Given the description of an element on the screen output the (x, y) to click on. 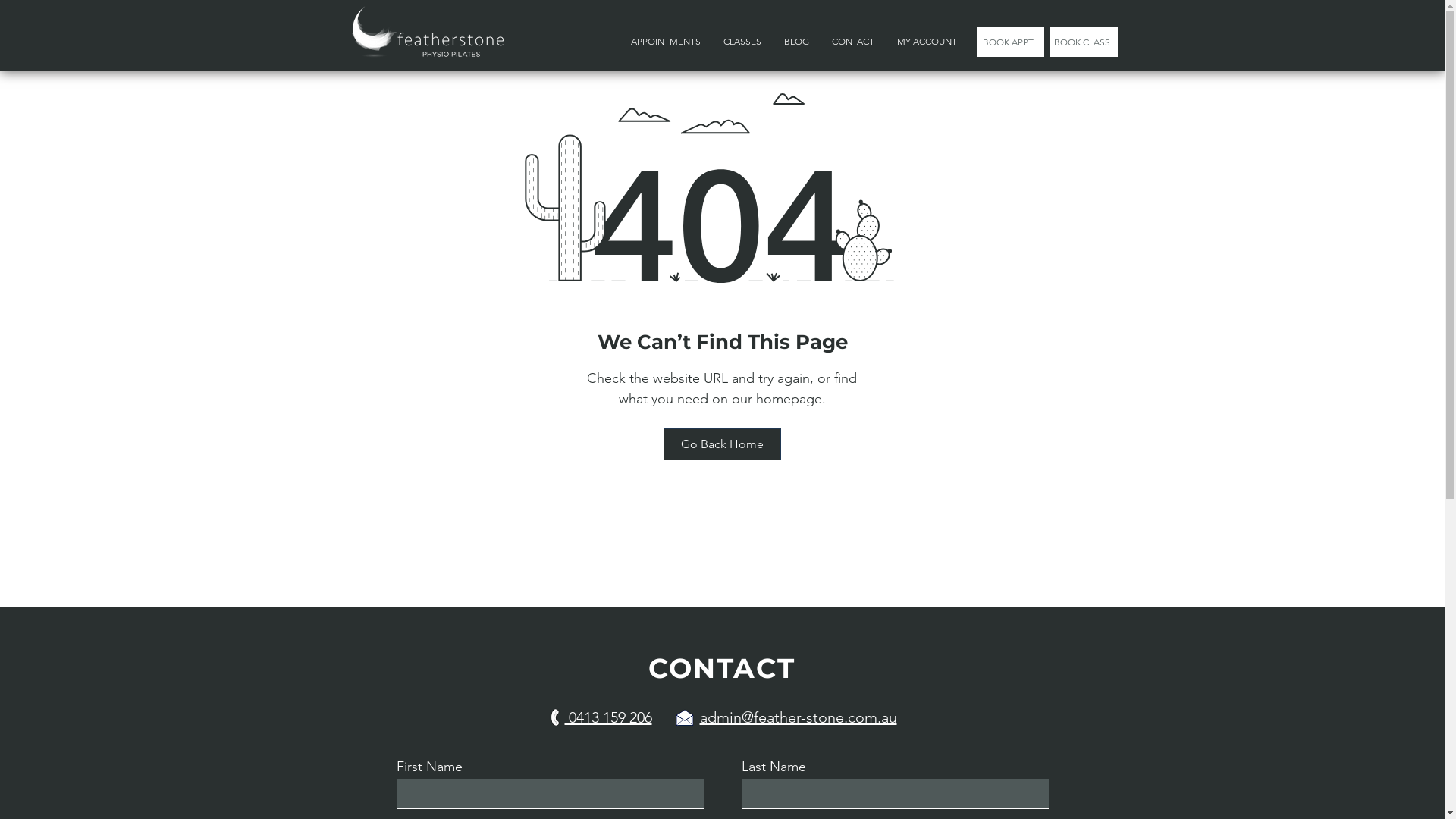
APPOINTMENTS Element type: text (664, 41)
Go Back Home Element type: text (721, 444)
MY ACCOUNT Element type: text (926, 41)
BOOK APPT. Element type: text (1010, 41)
BOOK CLASS Element type: text (1083, 41)
admin@feather-stone.com.au Element type: text (797, 717)
 0413 159 206 Element type: text (607, 717)
CLASSES Element type: text (741, 41)
CONTACT Element type: text (852, 41)
BLOG Element type: text (795, 41)
